Given the description of an element on the screen output the (x, y) to click on. 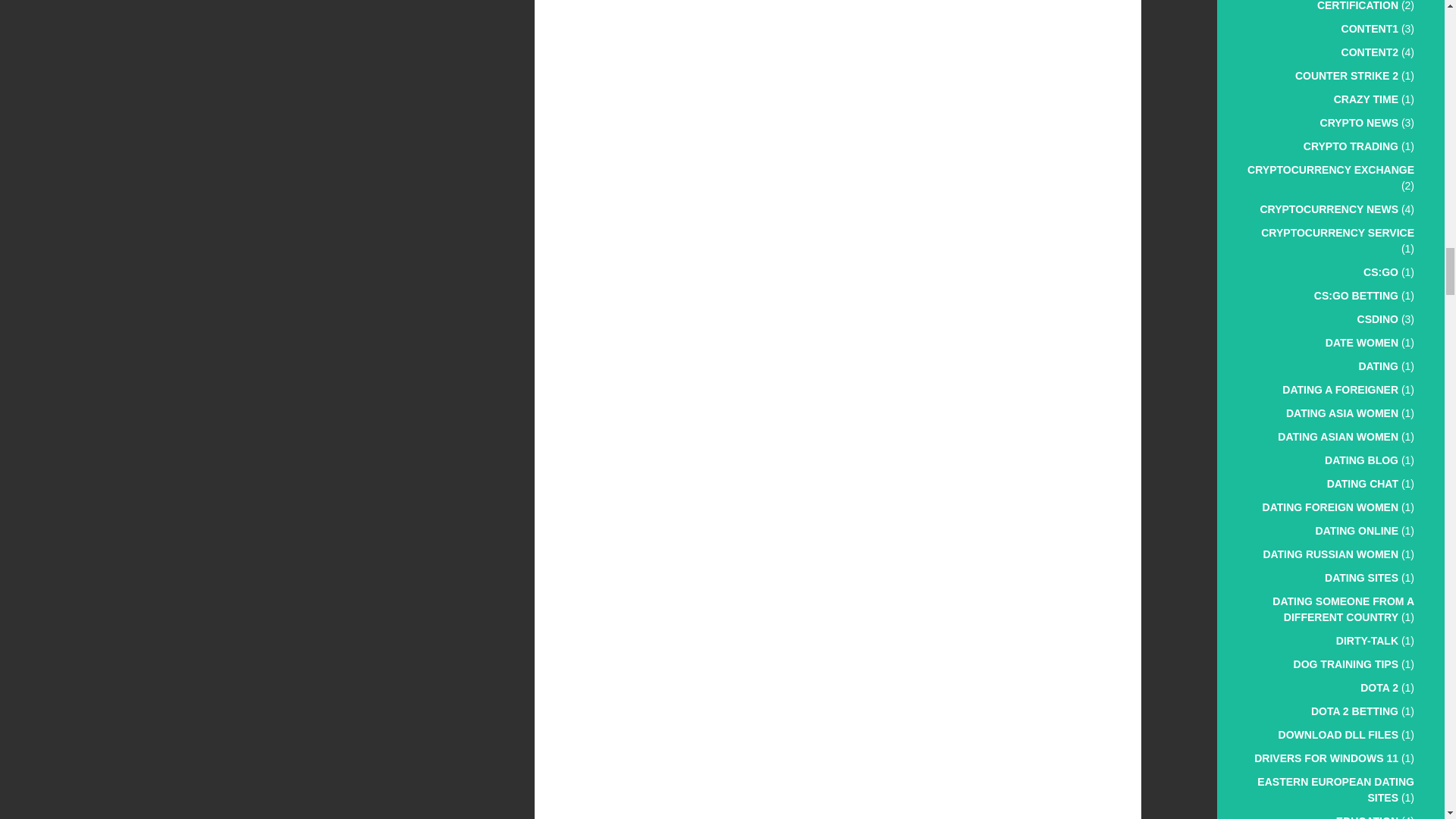
Computers, Computer Certification (1346, 5)
